Given the description of an element on the screen output the (x, y) to click on. 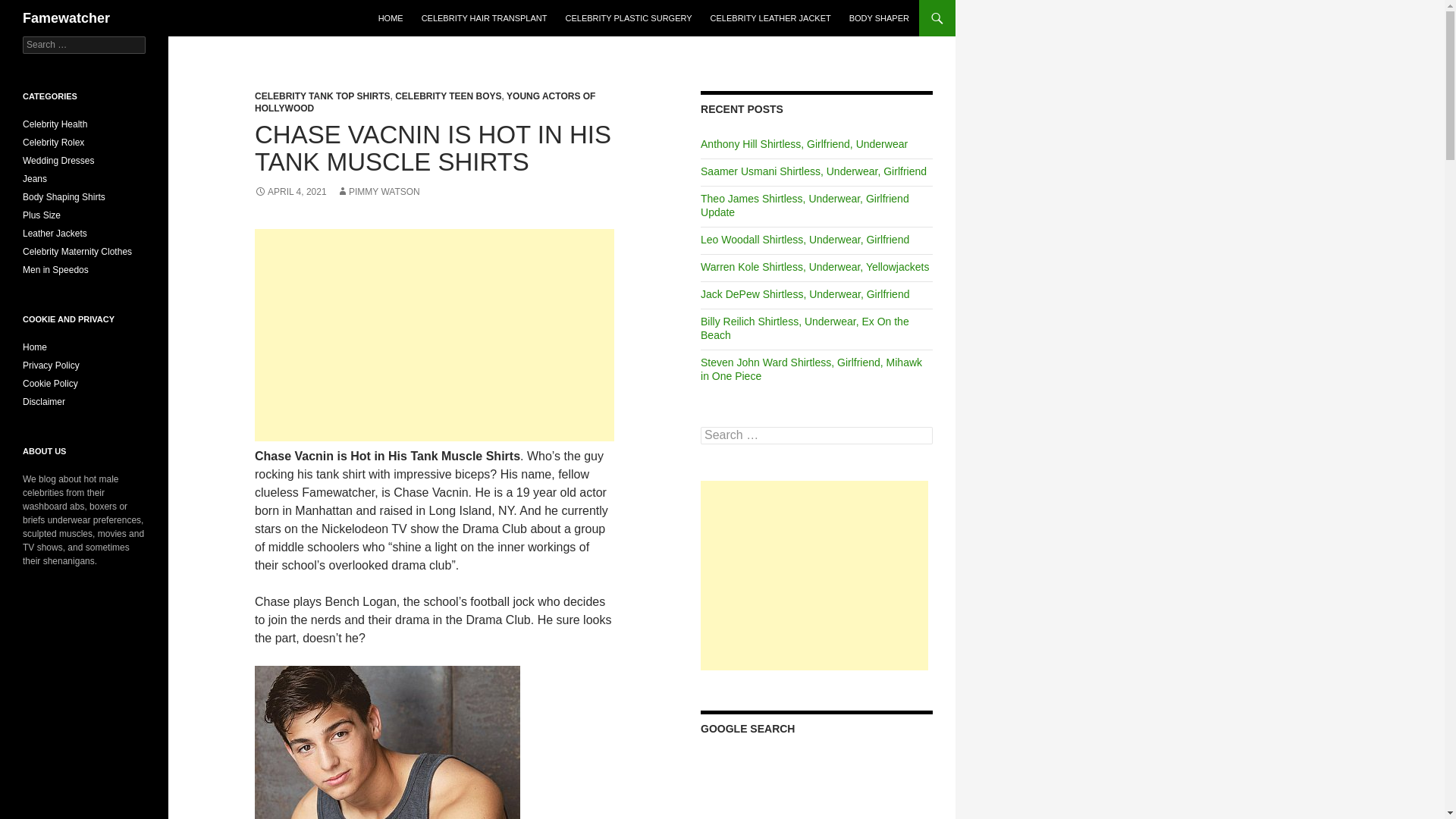
Warren Kole Shirtless, Underwear, Yellowjackets (814, 266)
CELEBRITY TEEN BOYS (447, 95)
Search (30, 8)
BODY SHAPER (879, 18)
CELEBRITY HAIR TRANSPLANT (484, 18)
Advertisement (434, 335)
Theo James Shirtless, Underwear, Girlfriend Update (804, 205)
HOME (390, 18)
YOUNG ACTORS OF HOLLYWOOD (424, 101)
CELEBRITY PLASTIC SURGERY (628, 18)
PIMMY WATSON (378, 191)
Anthony Hill Shirtless, Girlfriend, Underwear (803, 143)
Famewatcher (66, 18)
Leo Woodall Shirtless, Underwear, Girlfriend (804, 239)
CELEBRITY TANK TOP SHIRTS (322, 95)
